Given the description of an element on the screen output the (x, y) to click on. 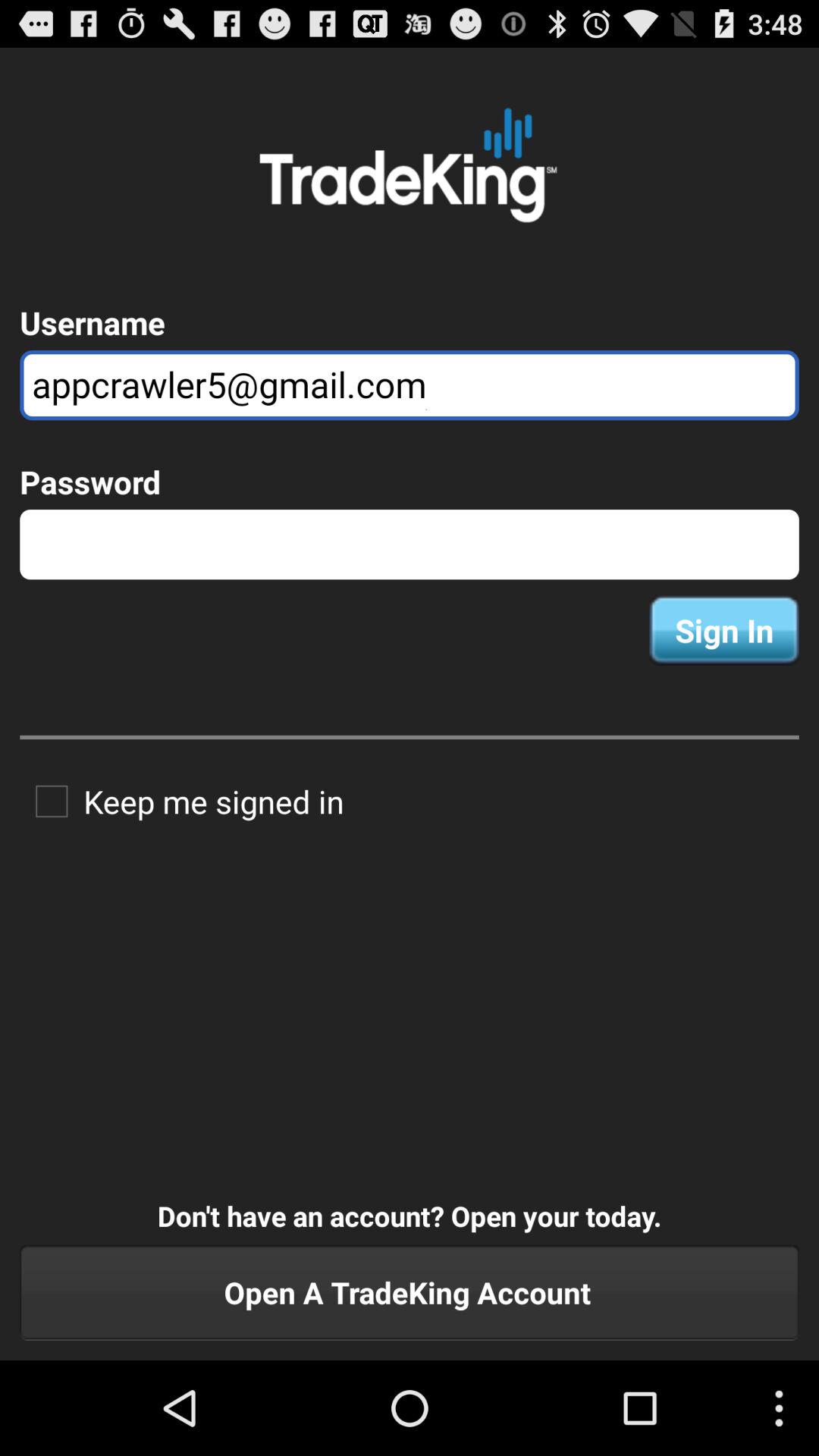
turn on the item on the left (181, 801)
